Given the description of an element on the screen output the (x, y) to click on. 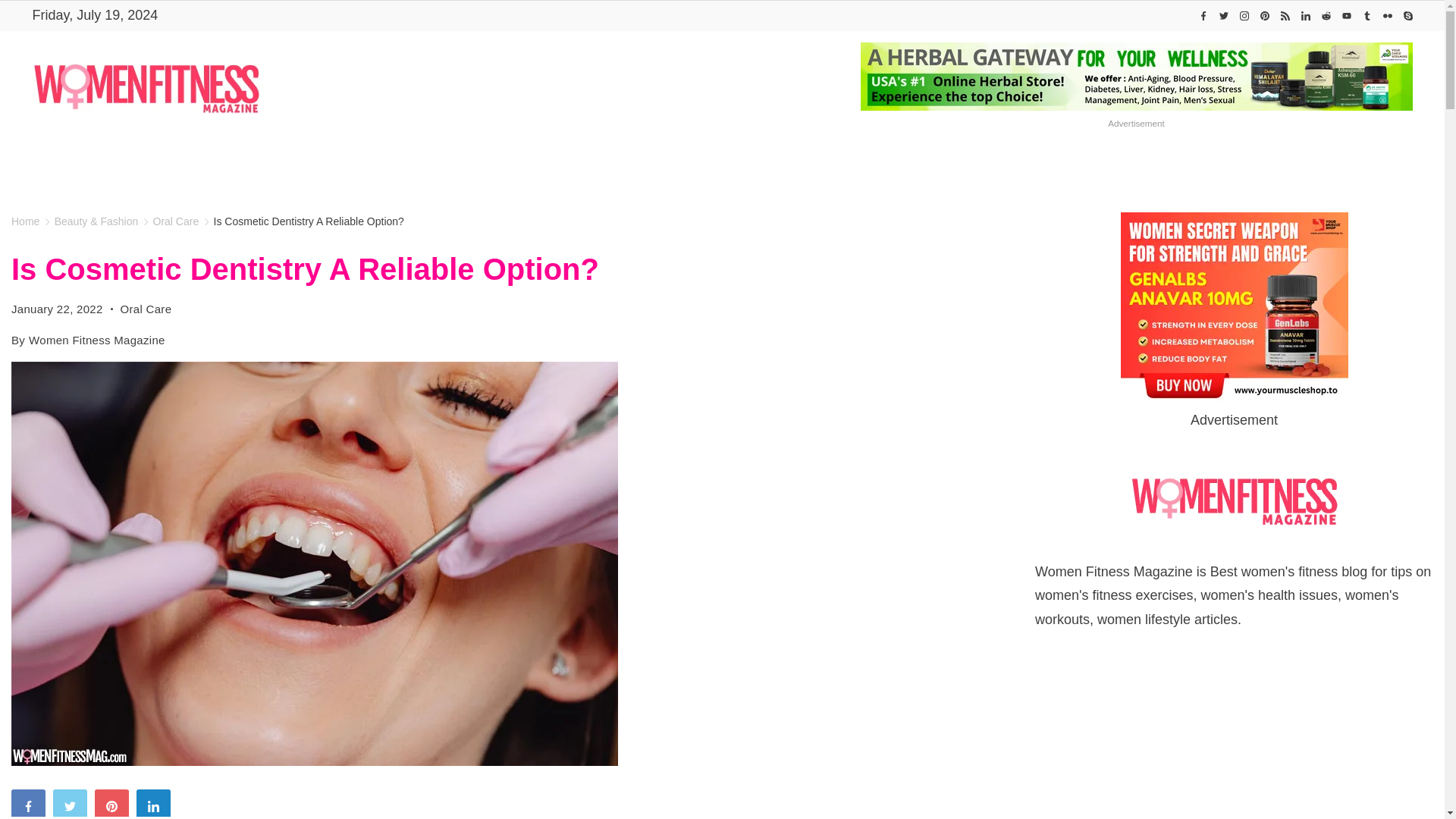
Women Fitness Magazine  (415, 165)
Home (415, 165)
